Given the description of an element on the screen output the (x, y) to click on. 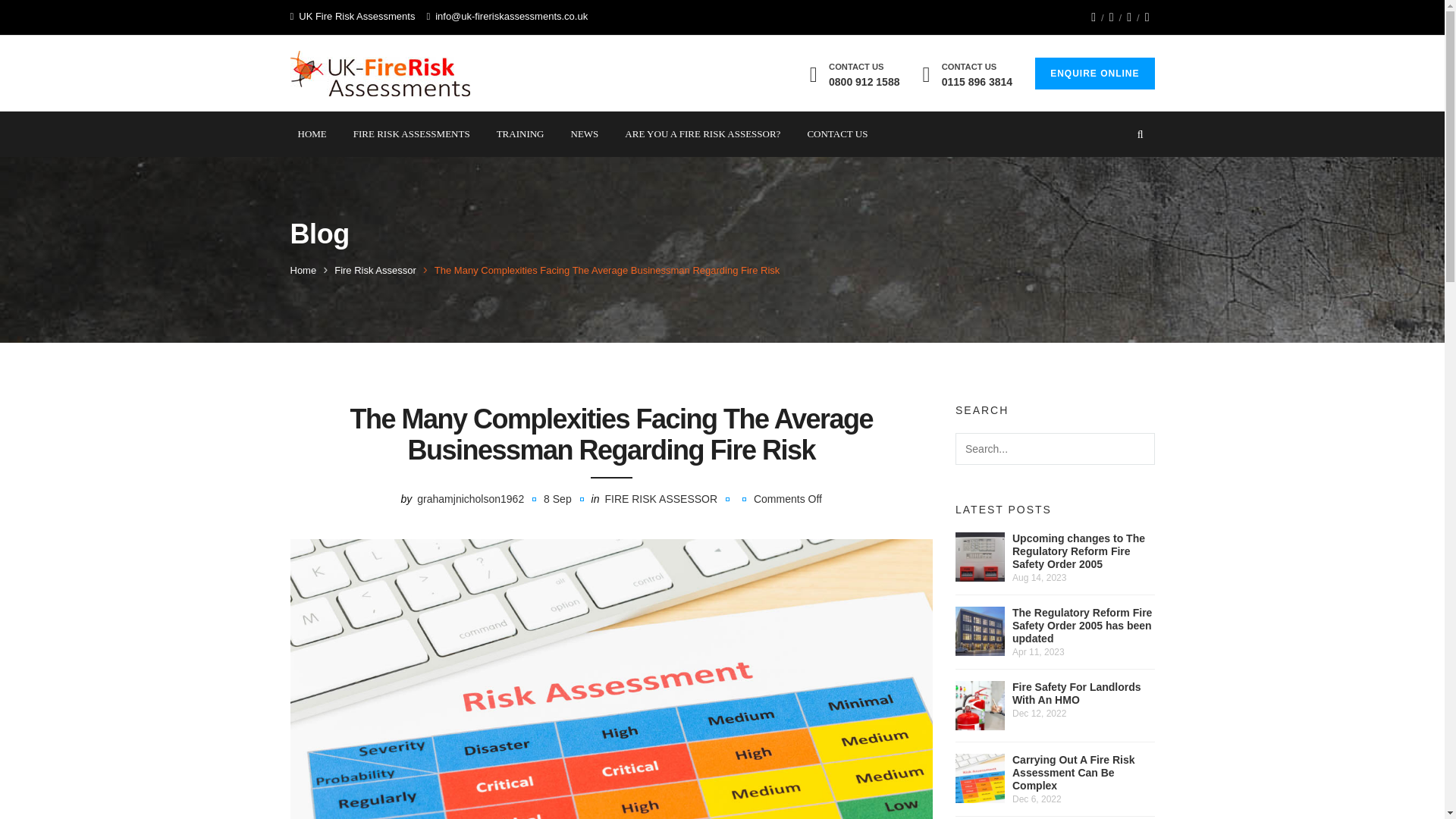
Fire Safety For Landlords With An HMO (1082, 693)
UK Fire Risk Assessments (378, 73)
Twitter (1111, 17)
CONTACT US (837, 134)
Fire Safety For Landlords With An HMO (1082, 693)
Carrying Out A Fire Risk Assessment Can Be Complex (1082, 772)
NEWS (583, 134)
0115 896 3814 (976, 81)
LinkedIn (1129, 17)
